Given the description of an element on the screen output the (x, y) to click on. 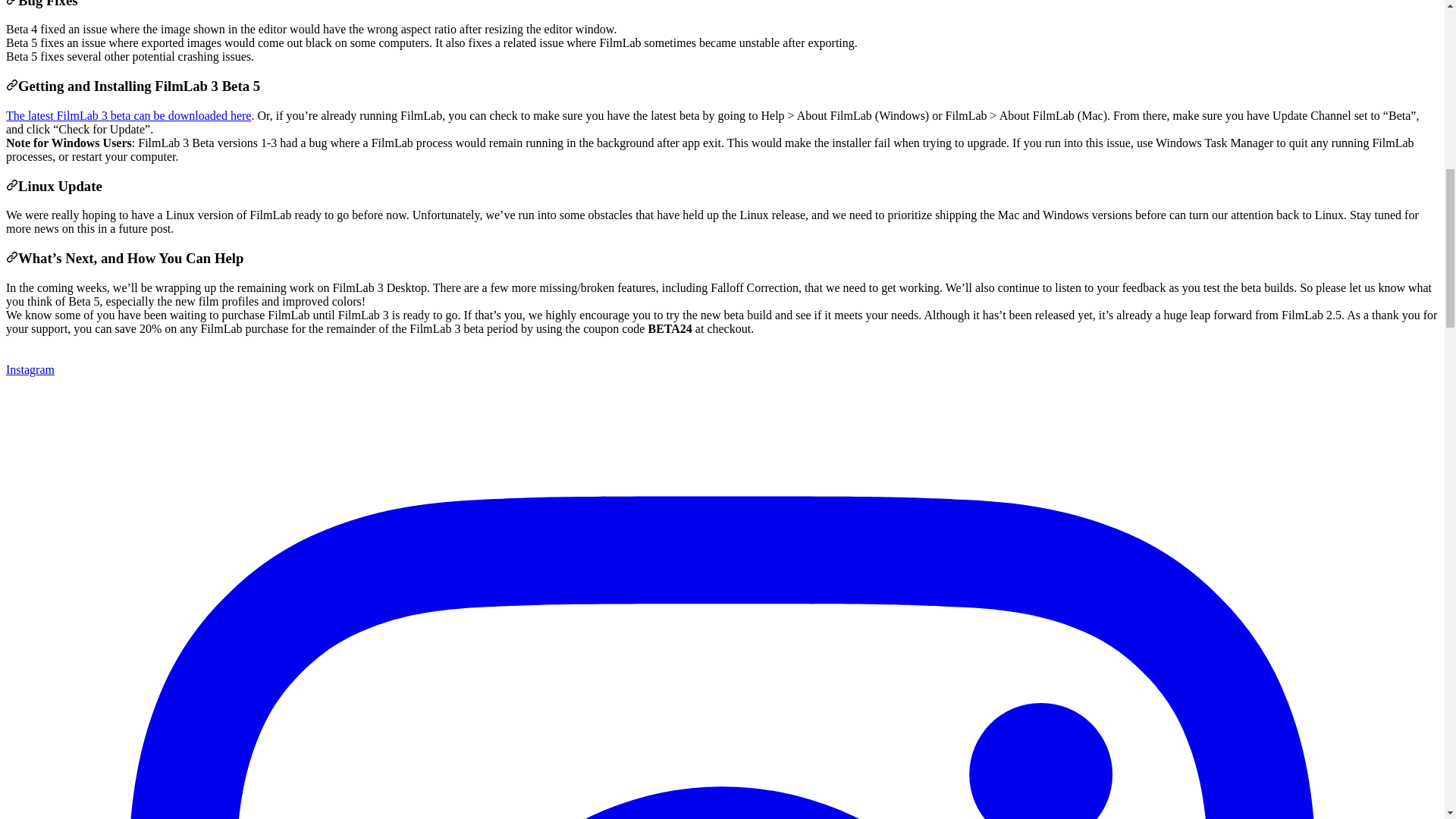
Bug Fixes (11, 4)
The latest FilmLab 3 beta can be downloaded here (127, 115)
Linux Update (11, 186)
Getting and Installing FilmLab 3 Beta 5 (11, 85)
